Given the description of an element on the screen output the (x, y) to click on. 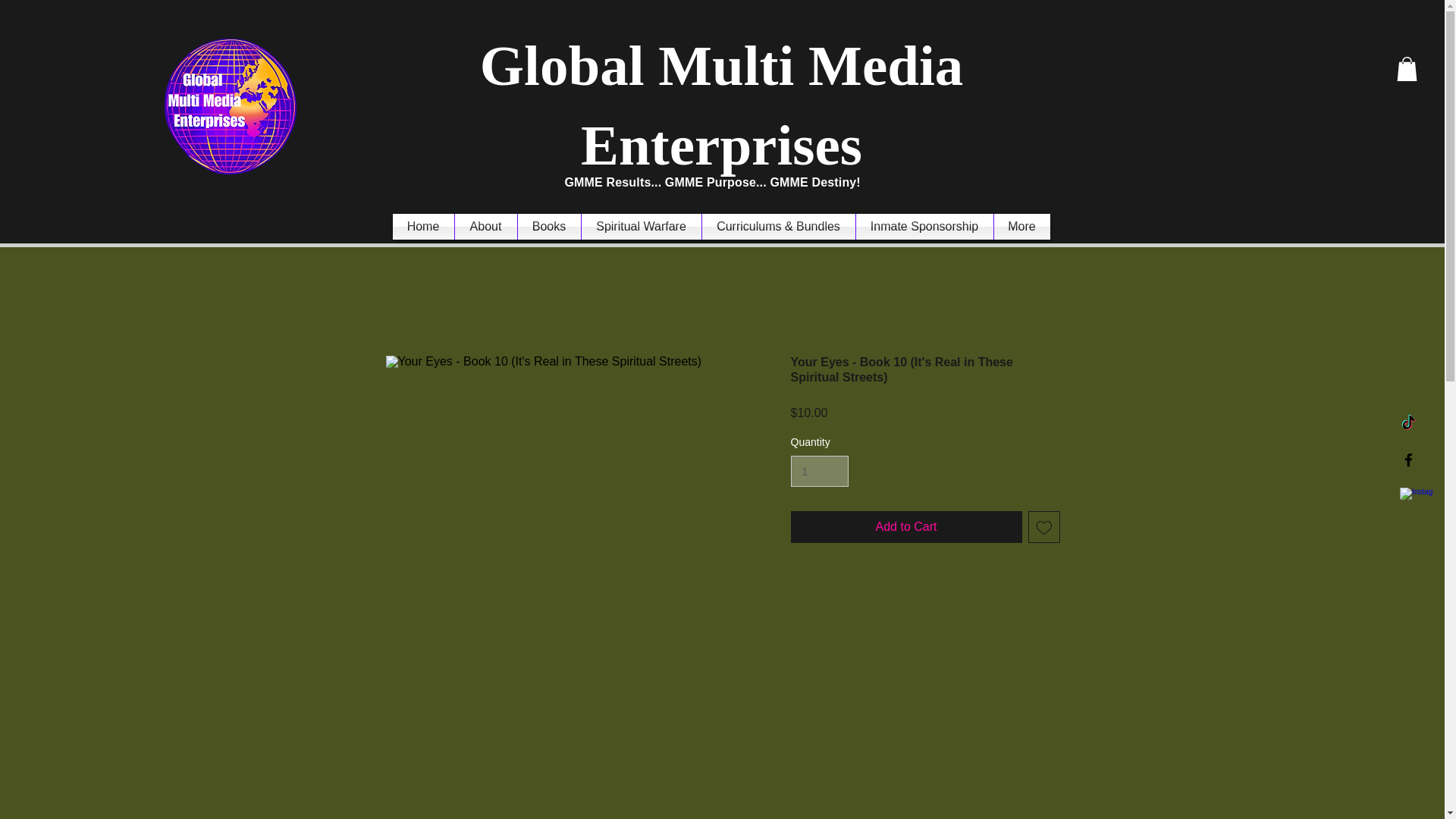
1 (818, 470)
About (485, 226)
Home (423, 226)
Inmate Sponsorship (924, 226)
Add to Cart (906, 526)
Books (547, 226)
Spiritual Warfare (640, 226)
Global Multi Media Enterprises (721, 105)
